Given the description of an element on the screen output the (x, y) to click on. 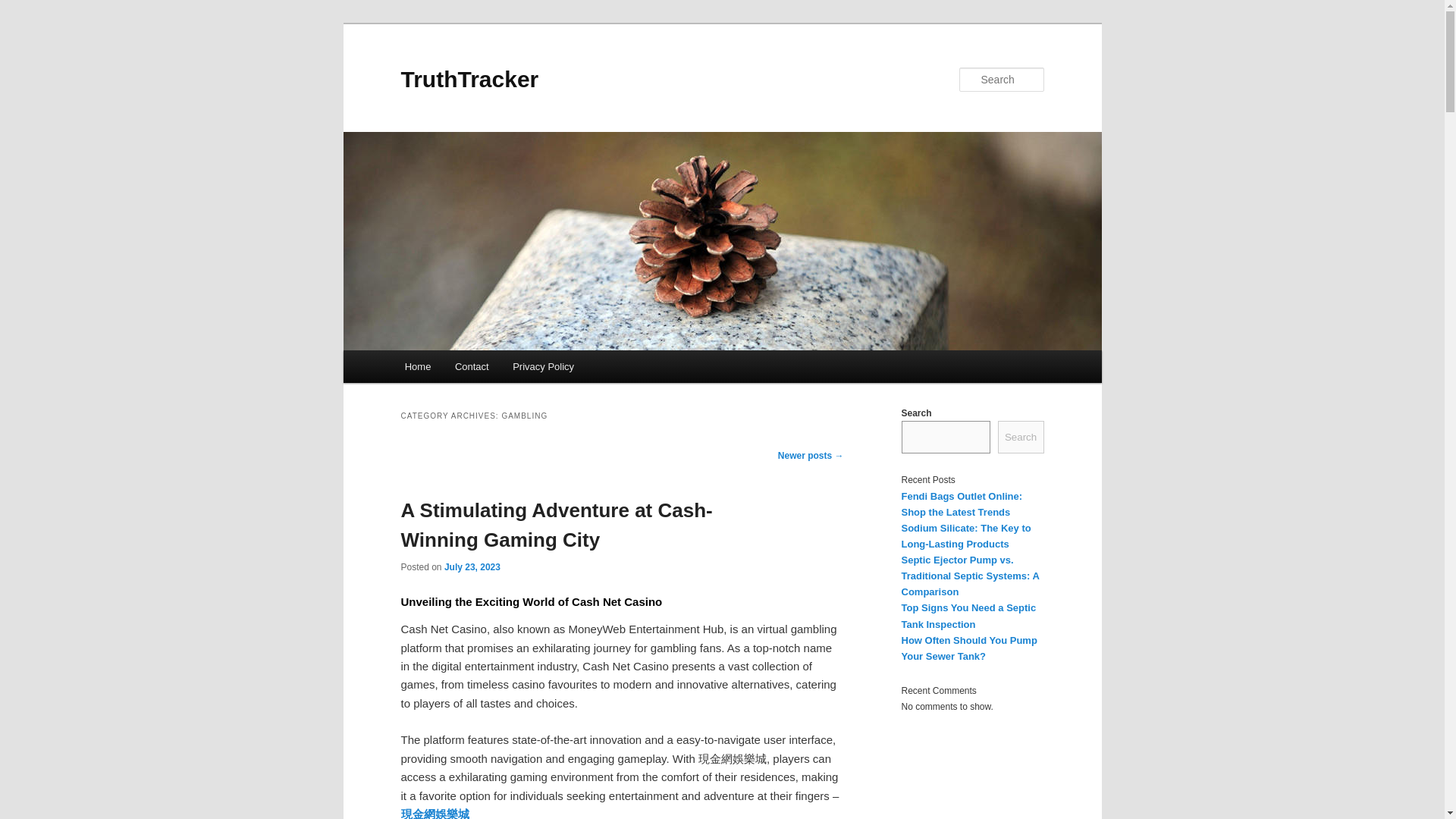
Top Signs You Need a Septic Tank Inspection (968, 615)
Contact (471, 366)
A Stimulating Adventure at Cash-Winning Gaming City (555, 524)
Fendi Bags Outlet Online: Shop the Latest Trends (961, 502)
Search (24, 8)
Search (1020, 436)
5:13 am (472, 566)
Privacy Policy (542, 366)
